Given the description of an element on the screen output the (x, y) to click on. 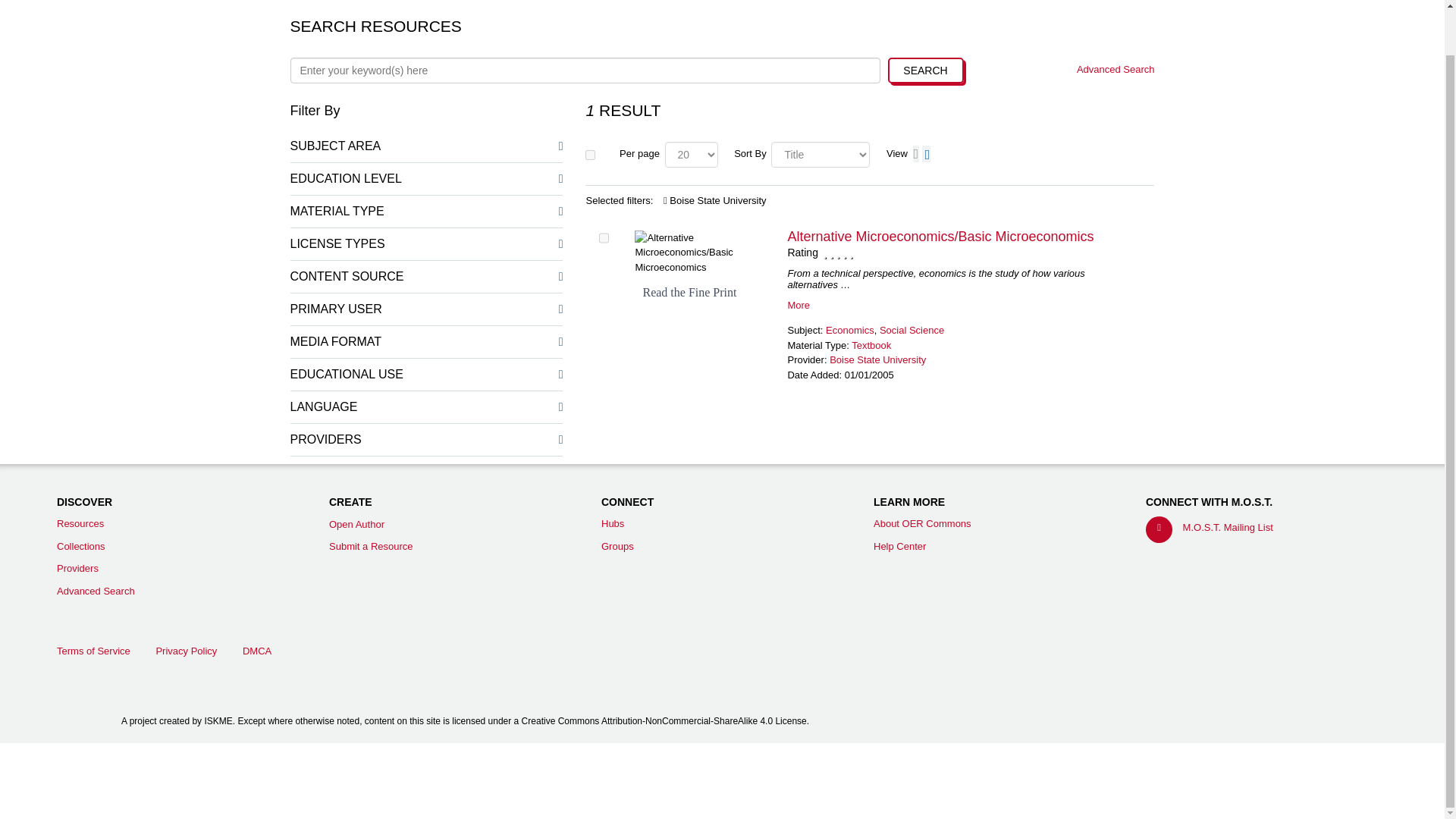
on (590, 153)
ISKME (721, 780)
Search keywords (584, 70)
